Given the description of an element on the screen output the (x, y) to click on. 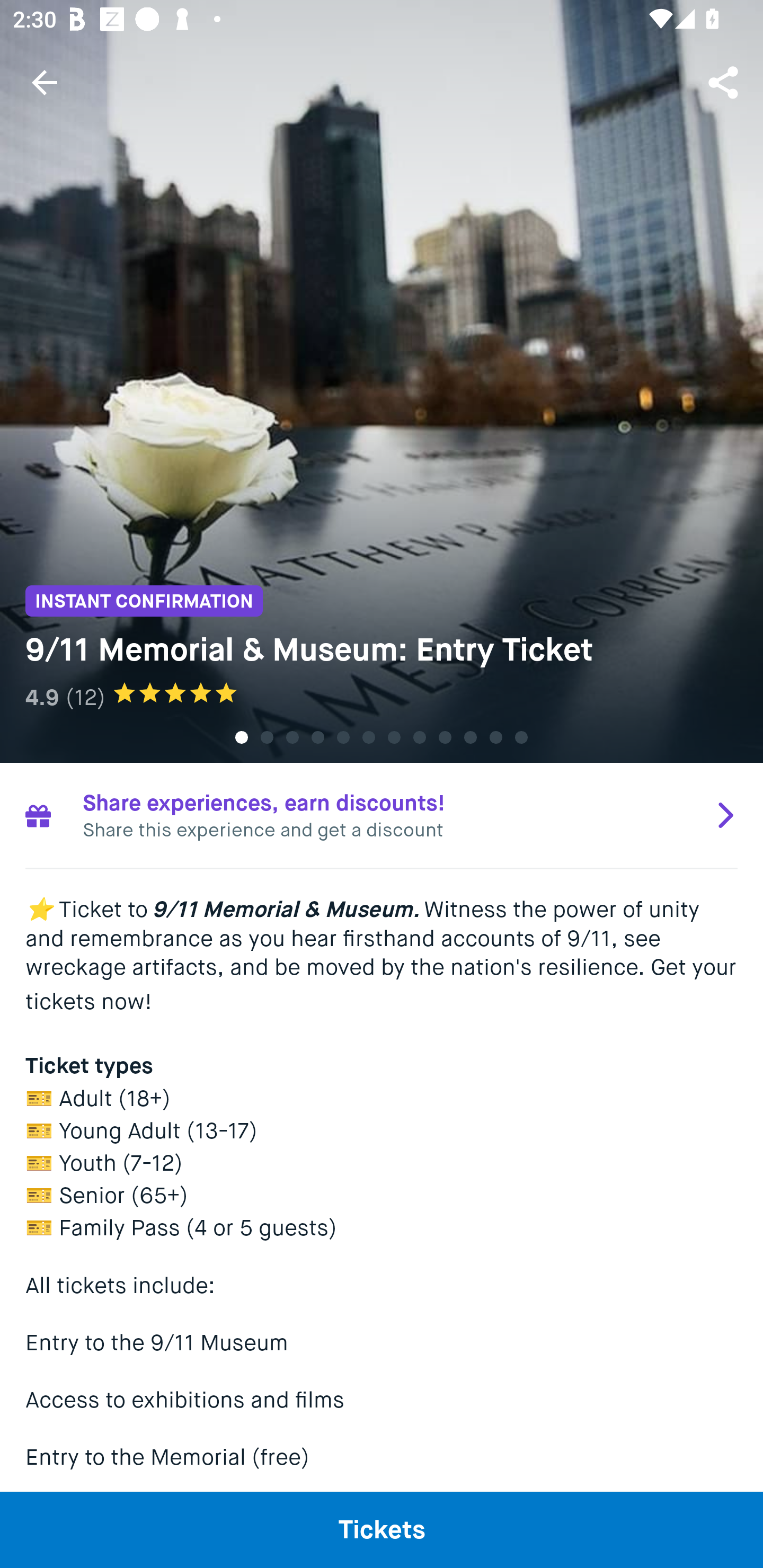
Navigate up (44, 82)
Share (724, 81)
(12) (85, 697)
Tickets (381, 1529)
